Given the description of an element on the screen output the (x, y) to click on. 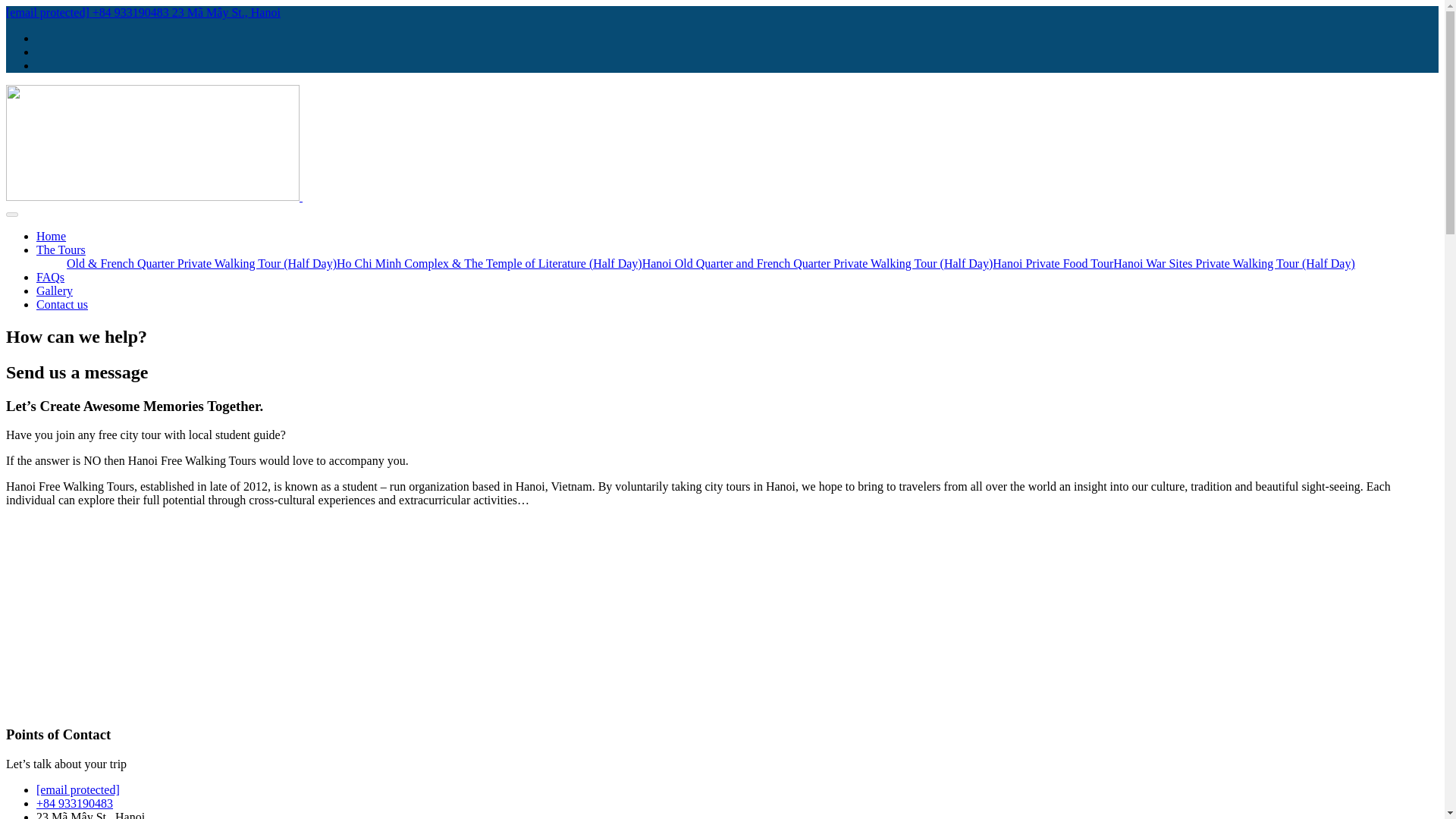
The Tours (60, 249)
Hanoi Private Food Tour (1052, 263)
Home (50, 236)
Gallery (54, 290)
FAQs (50, 277)
Contact us (61, 304)
